Given the description of an element on the screen output the (x, y) to click on. 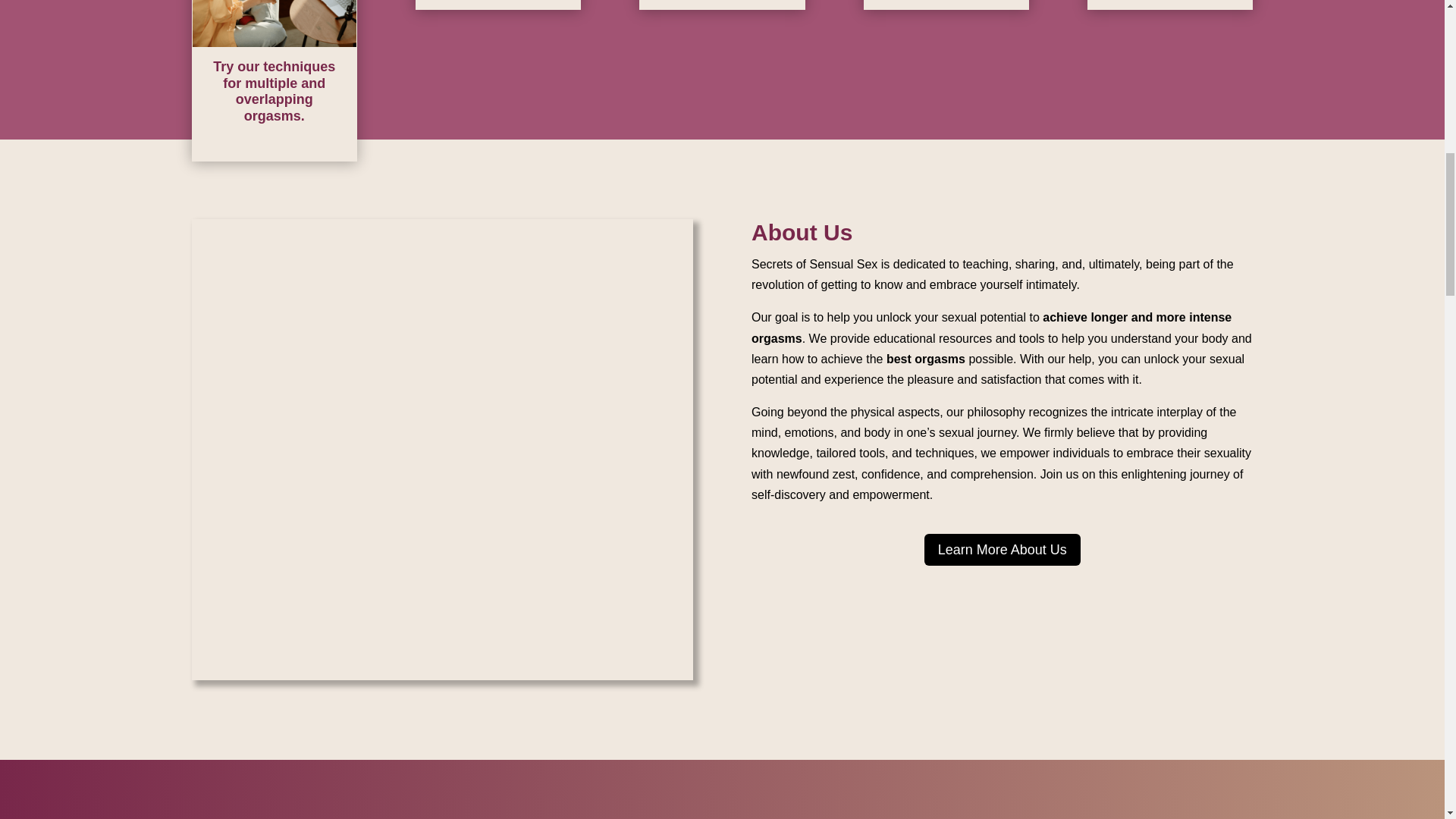
woman learns masturbation techniques (274, 23)
Learn More About Us (1002, 549)
